Given the description of an element on the screen output the (x, y) to click on. 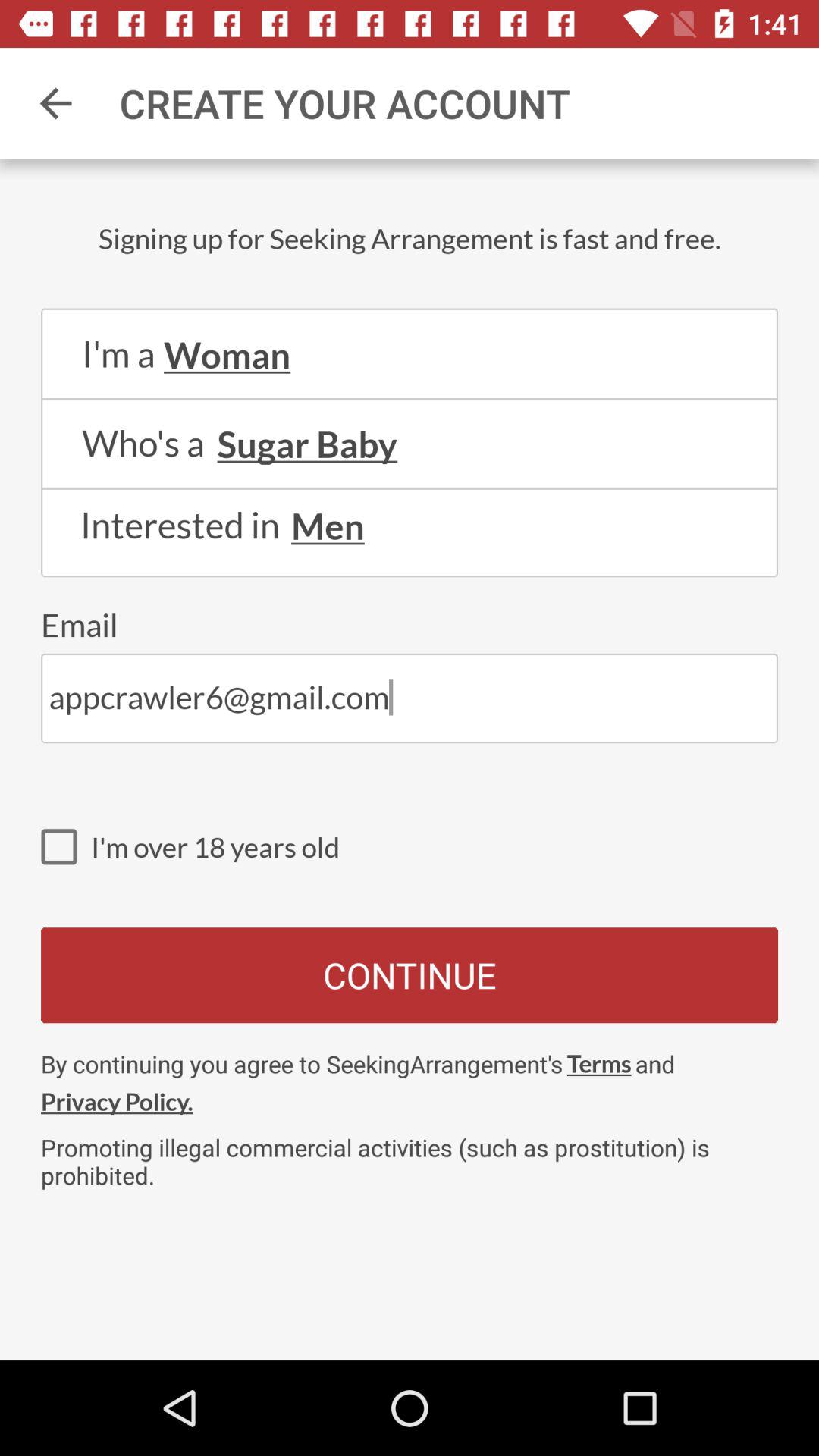
launch the item above promoting illegal commercial item (599, 1063)
